Given the description of an element on the screen output the (x, y) to click on. 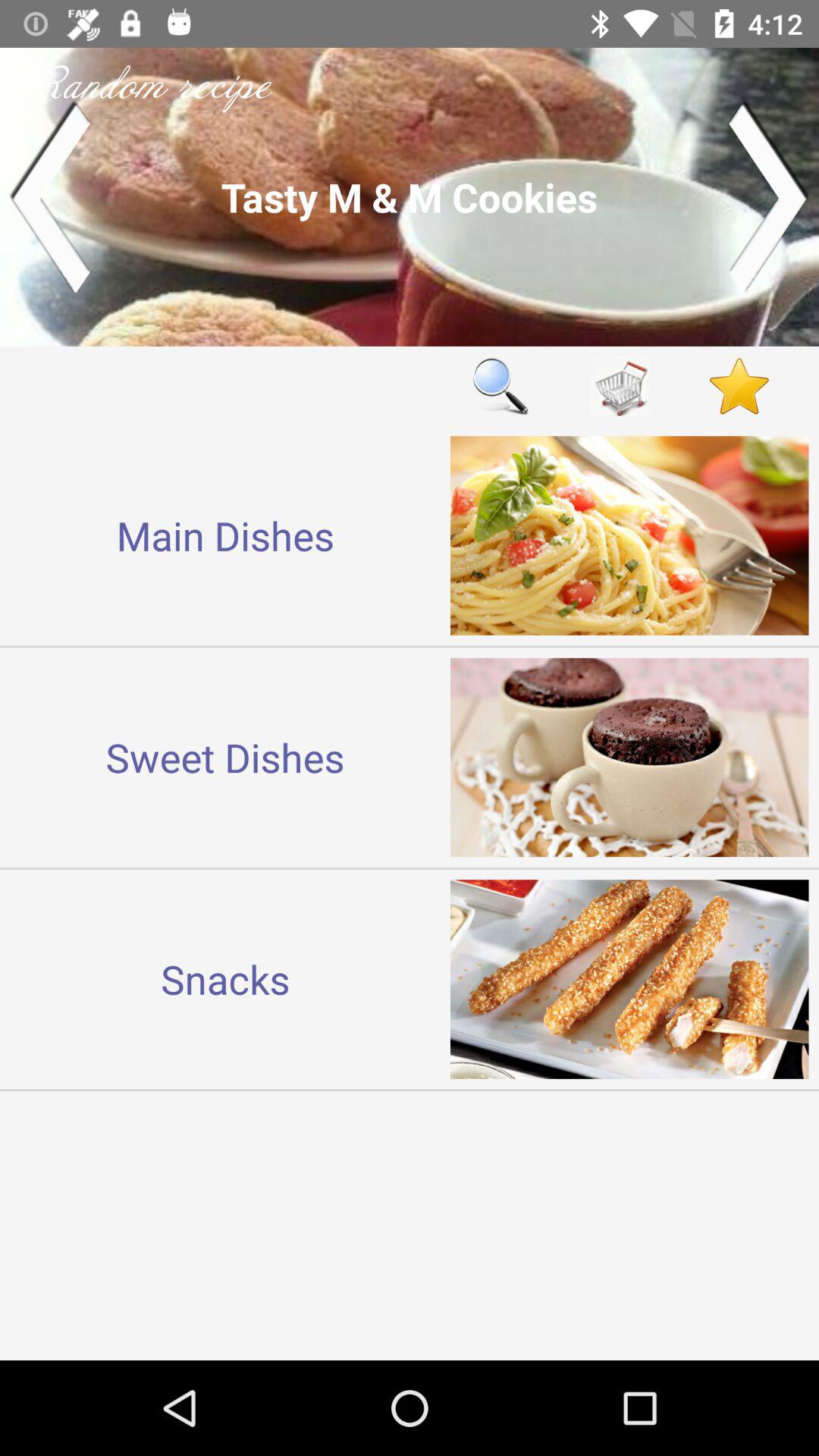
favorite (739, 385)
